Given the description of an element on the screen output the (x, y) to click on. 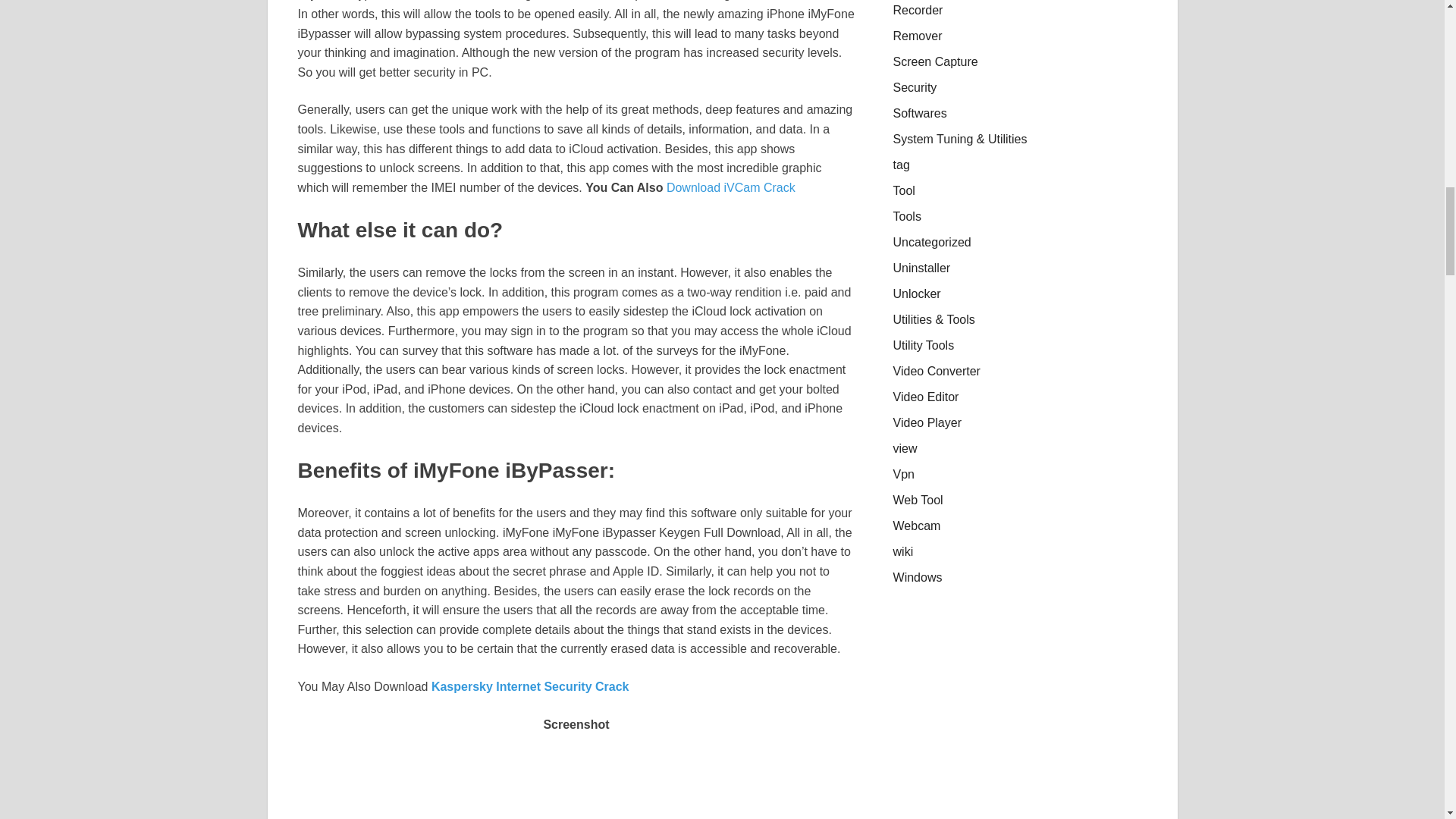
Kaspersky Internet Security Crack (529, 686)
Download iVCam Crack (730, 187)
